Given the description of an element on the screen output the (x, y) to click on. 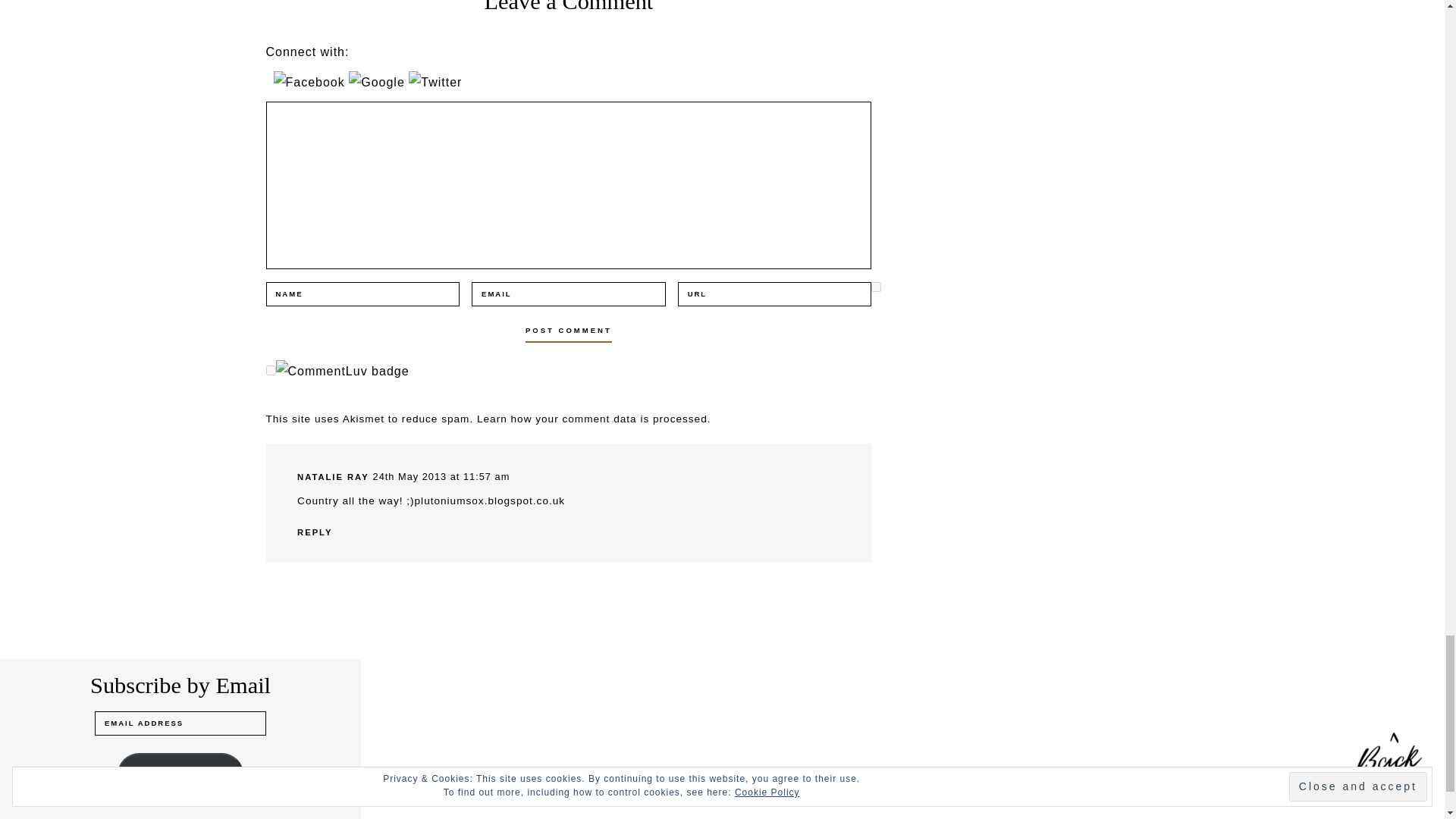
1 (875, 286)
Connect with Facebook (311, 82)
on (269, 370)
Connect with Twitter (435, 82)
Connect with Google (379, 82)
Post Comment (568, 330)
